Given the description of an element on the screen output the (x, y) to click on. 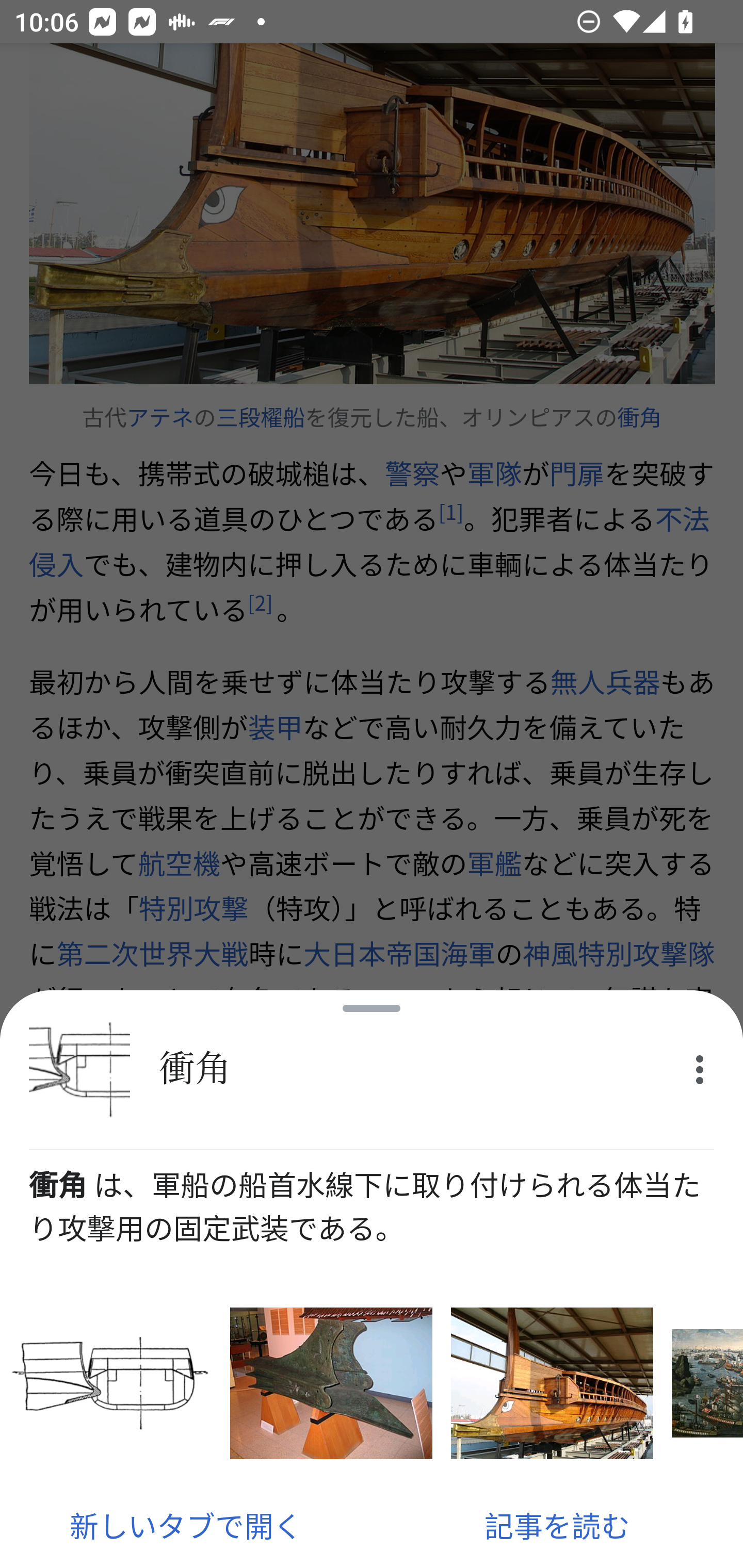
衝角 More options (371, 1069)
More options (699, 1070)
新しいタブで開く (185, 1524)
記事を読む (557, 1524)
